Given the description of an element on the screen output the (x, y) to click on. 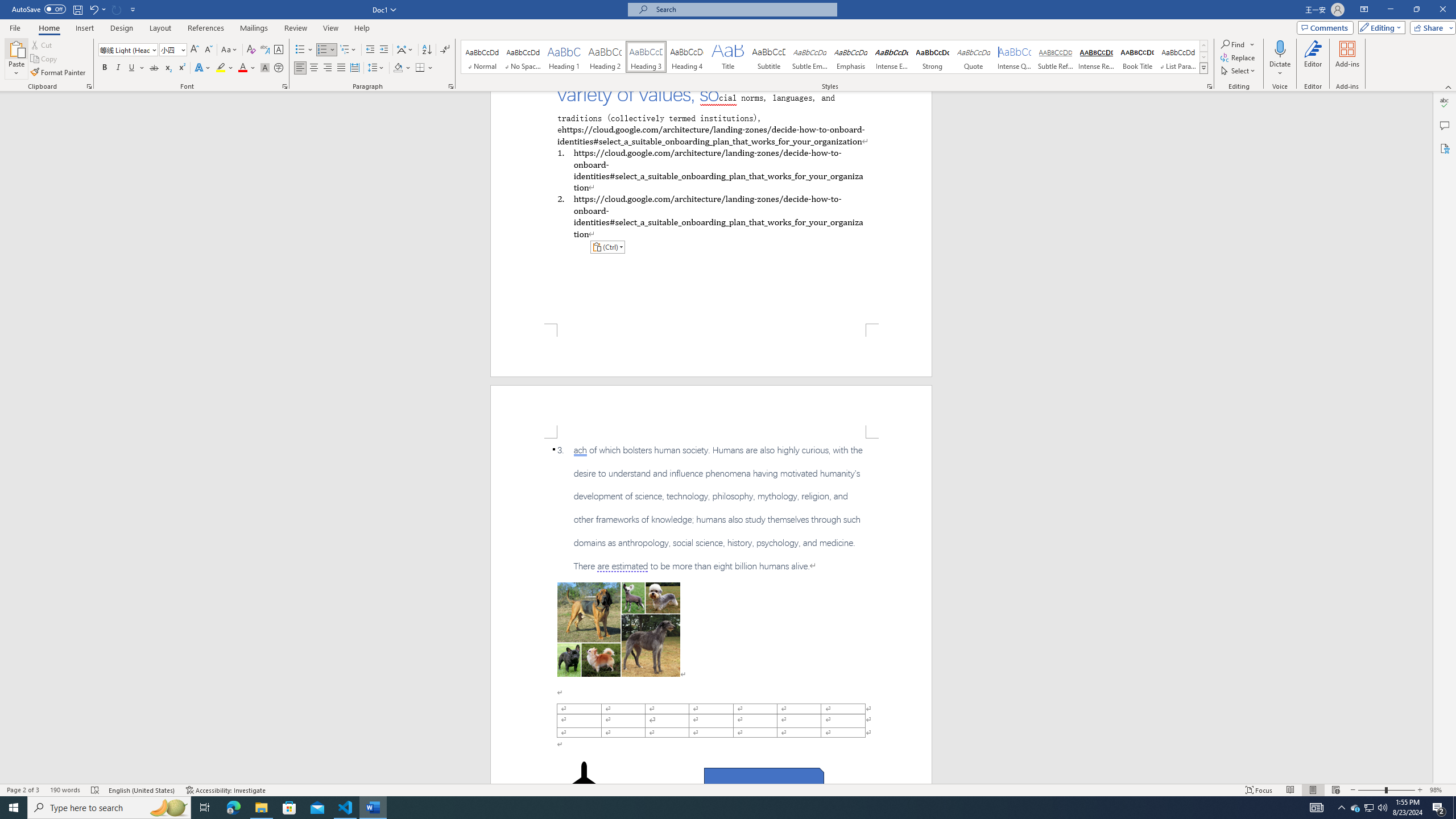
Line and Paragraph Spacing (376, 67)
Intense Emphasis (891, 56)
Align Left (300, 67)
Shading (402, 67)
Align Right (327, 67)
AutomationID: QuickStylesGallery (834, 56)
